Given the description of an element on the screen output the (x, y) to click on. 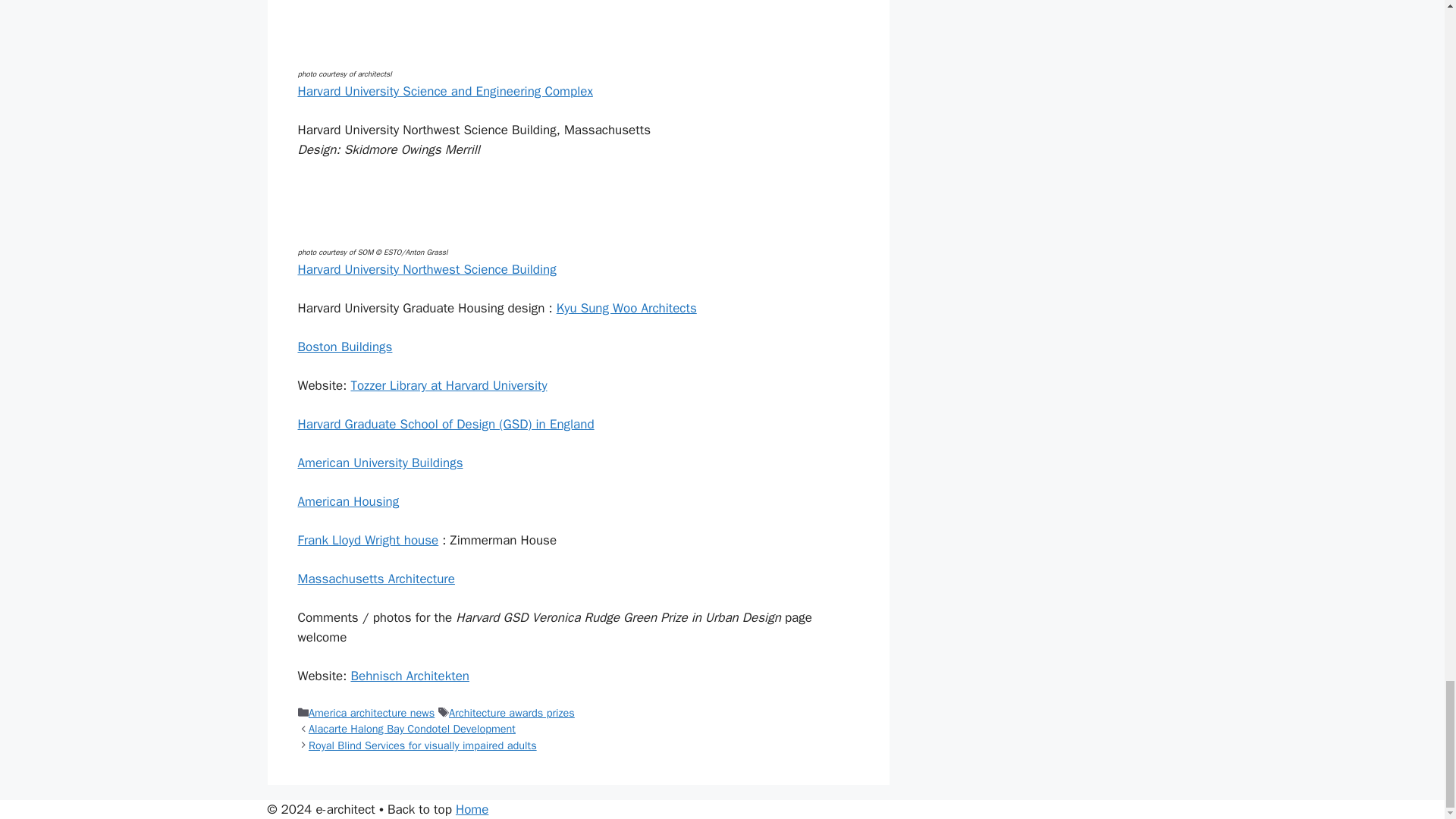
American University Buildings (380, 462)
Tozzer Library at Harvard University (448, 385)
Harvard University Science and Engineering Complex (444, 91)
Harvard University Northwest Science Building (426, 269)
Kyu Sung Woo Architects (626, 308)
Boston Buildings (344, 346)
